Given the description of an element on the screen output the (x, y) to click on. 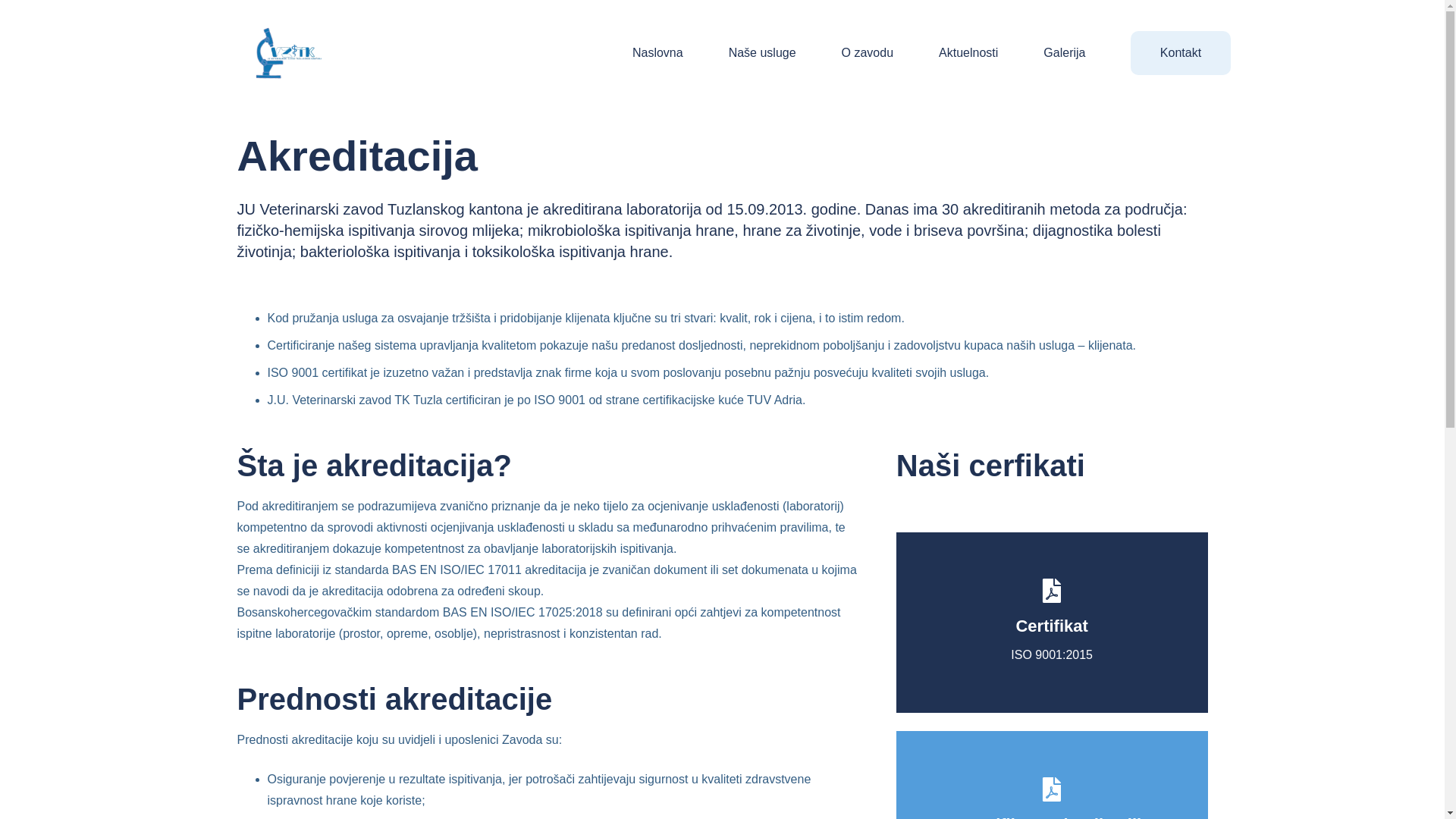
O zavodu Element type: text (867, 53)
Naslovna Element type: text (657, 53)
Aktuelnosti Element type: text (968, 53)
Kontakt Element type: text (1180, 53)
Certifikat
ISO 9001:2015 Element type: text (1052, 622)
Galerija Element type: text (1063, 53)
